Given the description of an element on the screen output the (x, y) to click on. 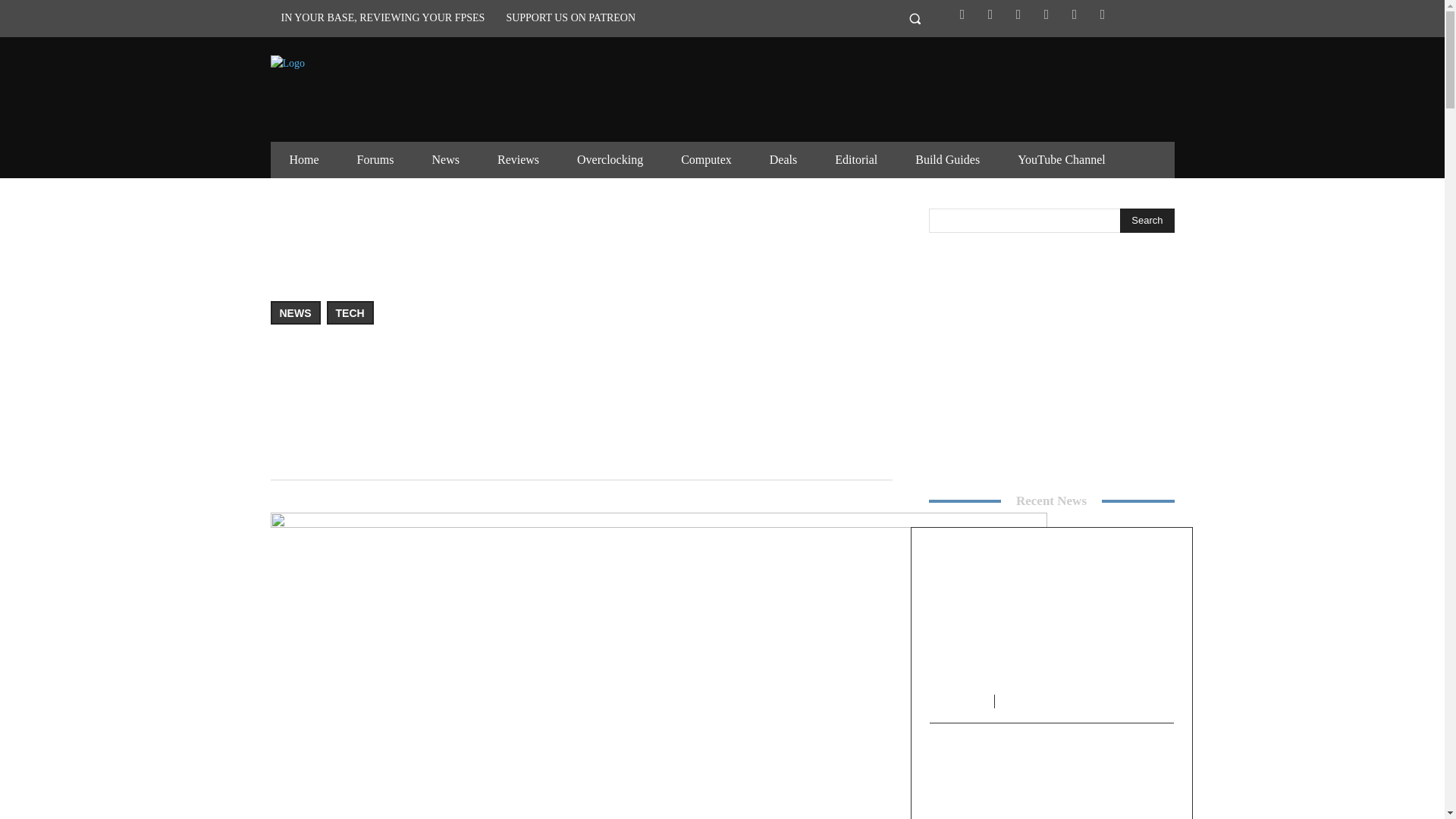
Facebook (962, 13)
Flipboard (990, 13)
Instagram (1018, 13)
